Given the description of an element on the screen output the (x, y) to click on. 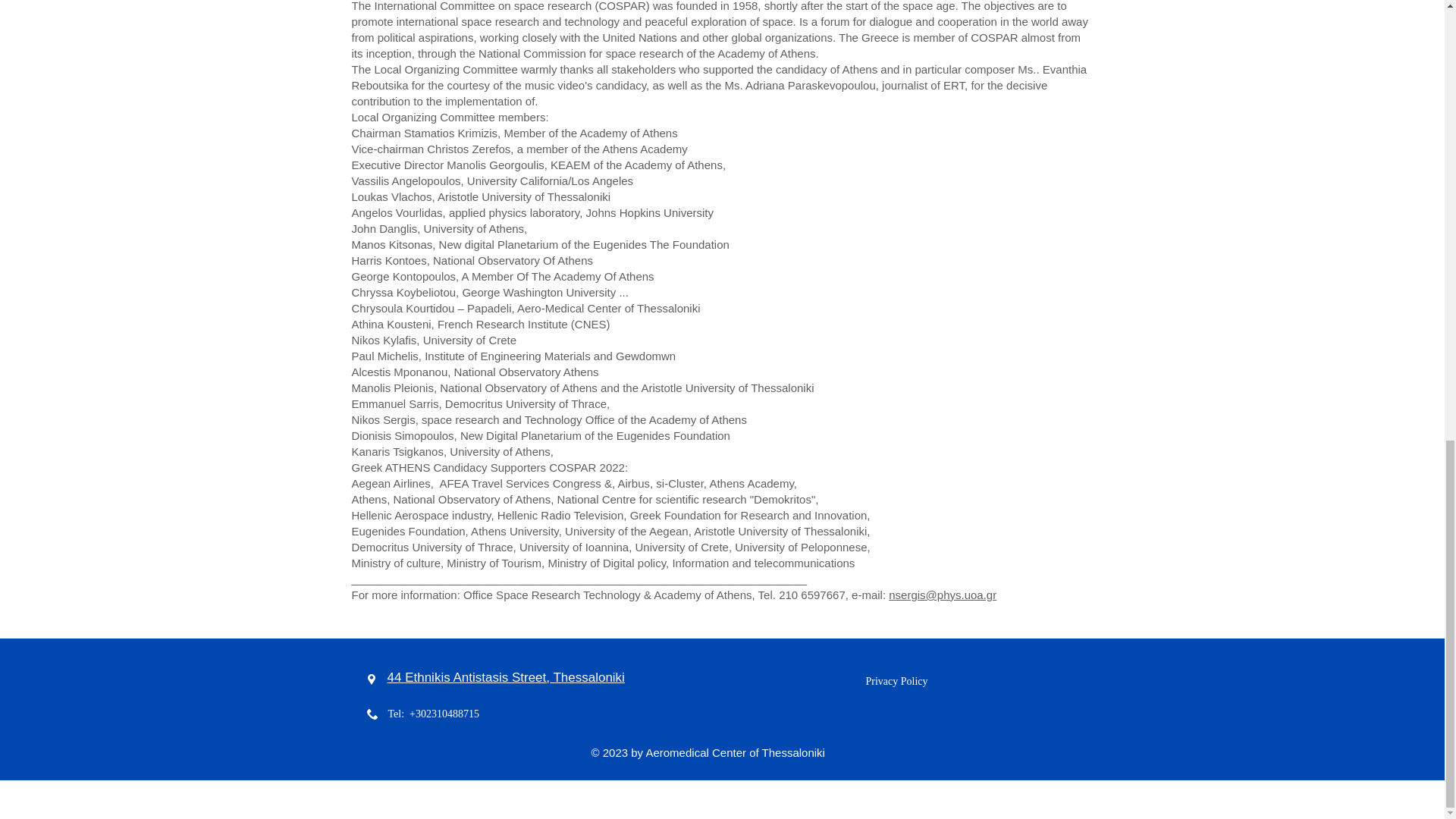
44 Ethnikis Antistasis Street, Thessaloniki (505, 677)
